Given the description of an element on the screen output the (x, y) to click on. 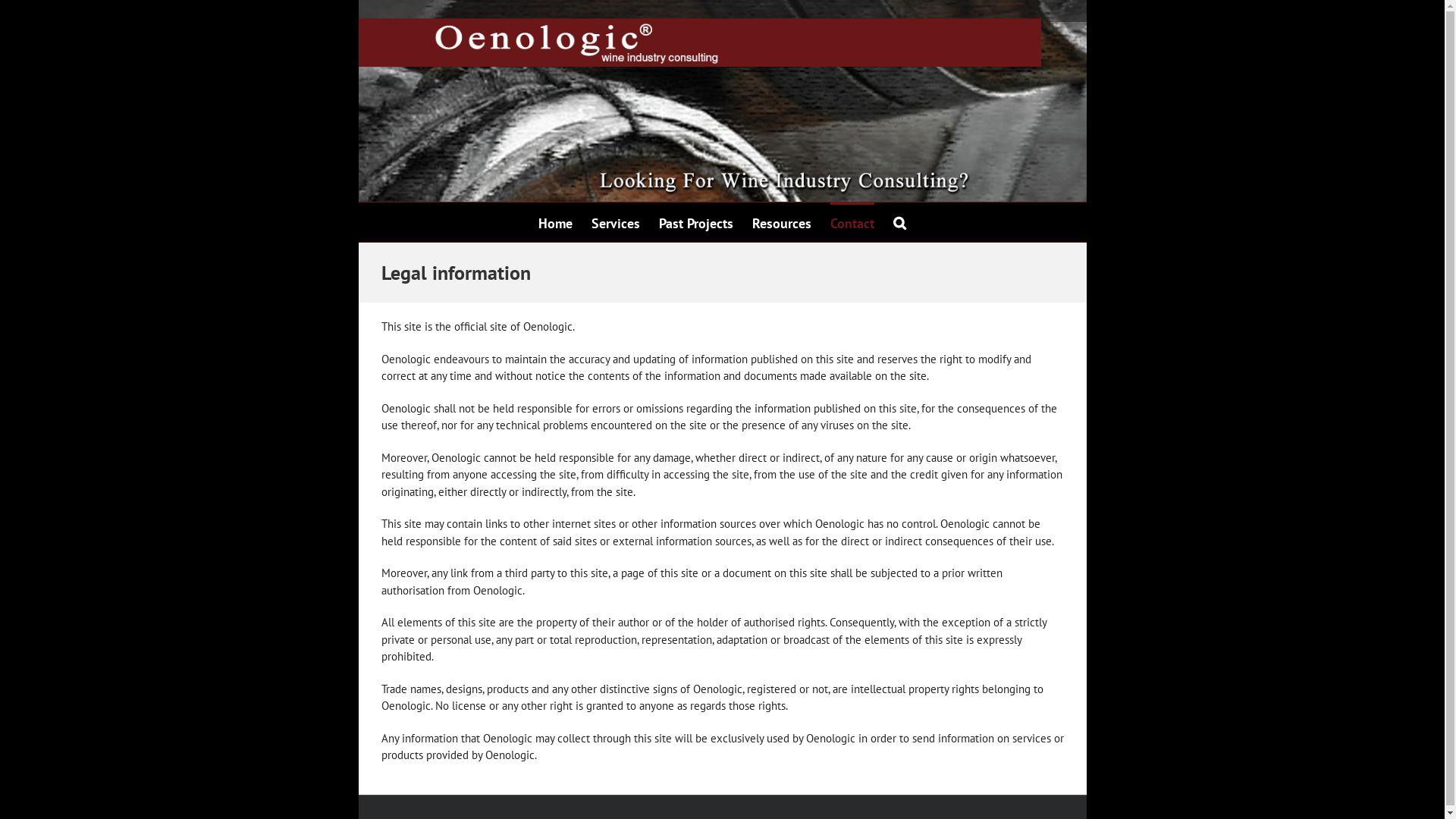
Services Element type: text (615, 221)
Home Element type: text (555, 221)
Past Projects Element type: text (695, 221)
Contact Element type: text (852, 221)
Resources Element type: text (781, 221)
